Given the description of an element on the screen output the (x, y) to click on. 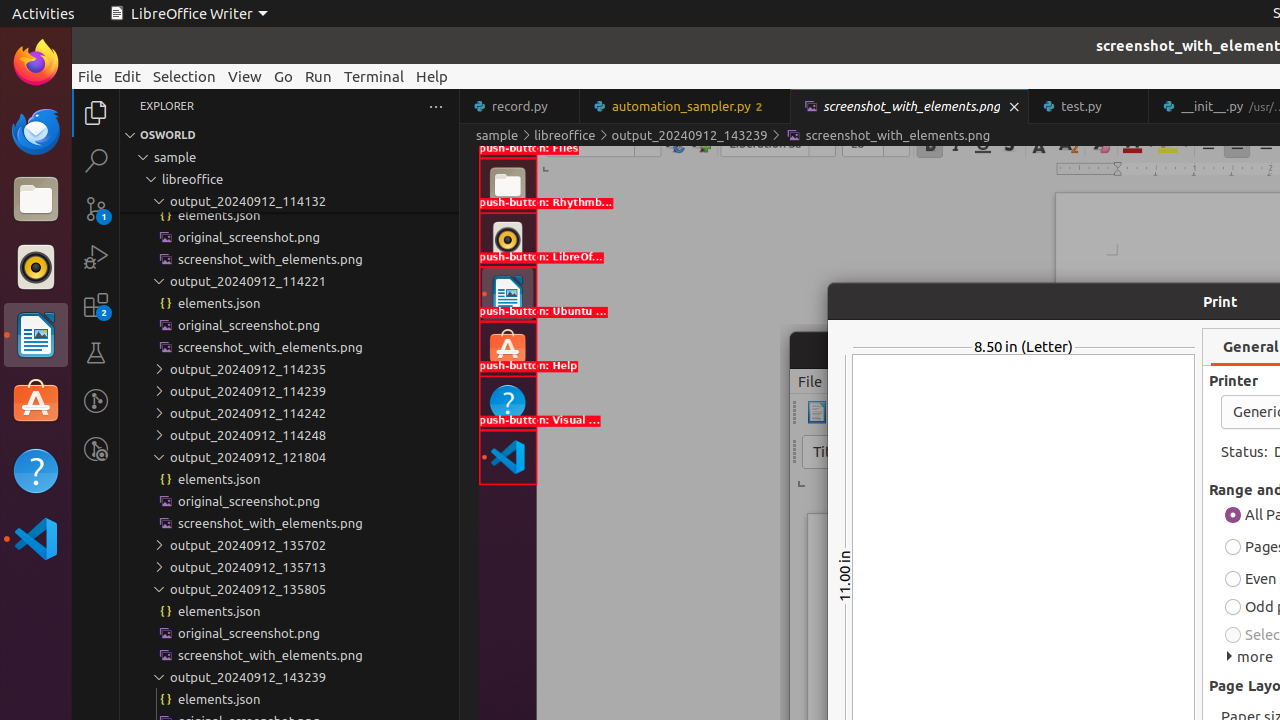
Thunderbird Mail Element type: push-button (36, 131)
Firefox Web Browser Element type: push-button (36, 63)
Visual Studio Code Element type: push-button (36, 538)
Help Element type: push-button (36, 470)
